Given the description of an element on the screen output the (x, y) to click on. 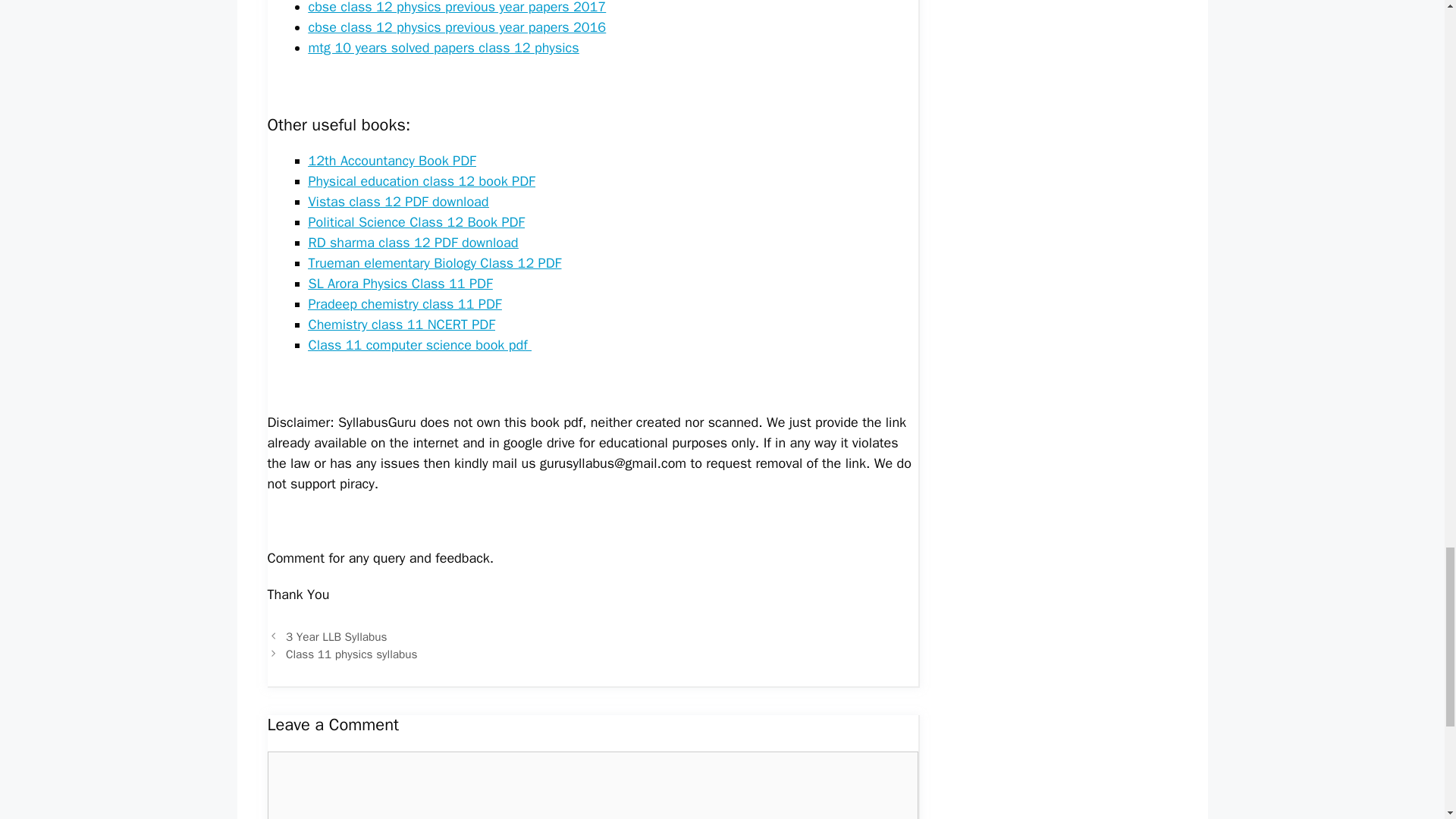
Vistas class 12 PDF download (397, 201)
Physical education class 12 book PDF (420, 180)
cbse class 12 physics previous year papers 2016 (456, 27)
Pradeep chemistry class 11 PDF (403, 303)
Political Science Class 12 Book PDF (415, 221)
RD sharma class 12 PDF download (412, 242)
Class 11 computer science book pdf  (419, 344)
SL Arora Physics Class 11 PDF (399, 283)
mtg 10 years solved papers class 12 physics (442, 47)
12th Accountancy Book PDF (391, 160)
3 Year LLB Syllabus (336, 636)
Trueman elementary Biology Class 12 PDF (433, 262)
cbse class 12 physics previous year papers 2017 (456, 7)
Class 11 physics syllabus (351, 654)
Chemistry class 11 NCERT PDF (401, 324)
